Given the description of an element on the screen output the (x, y) to click on. 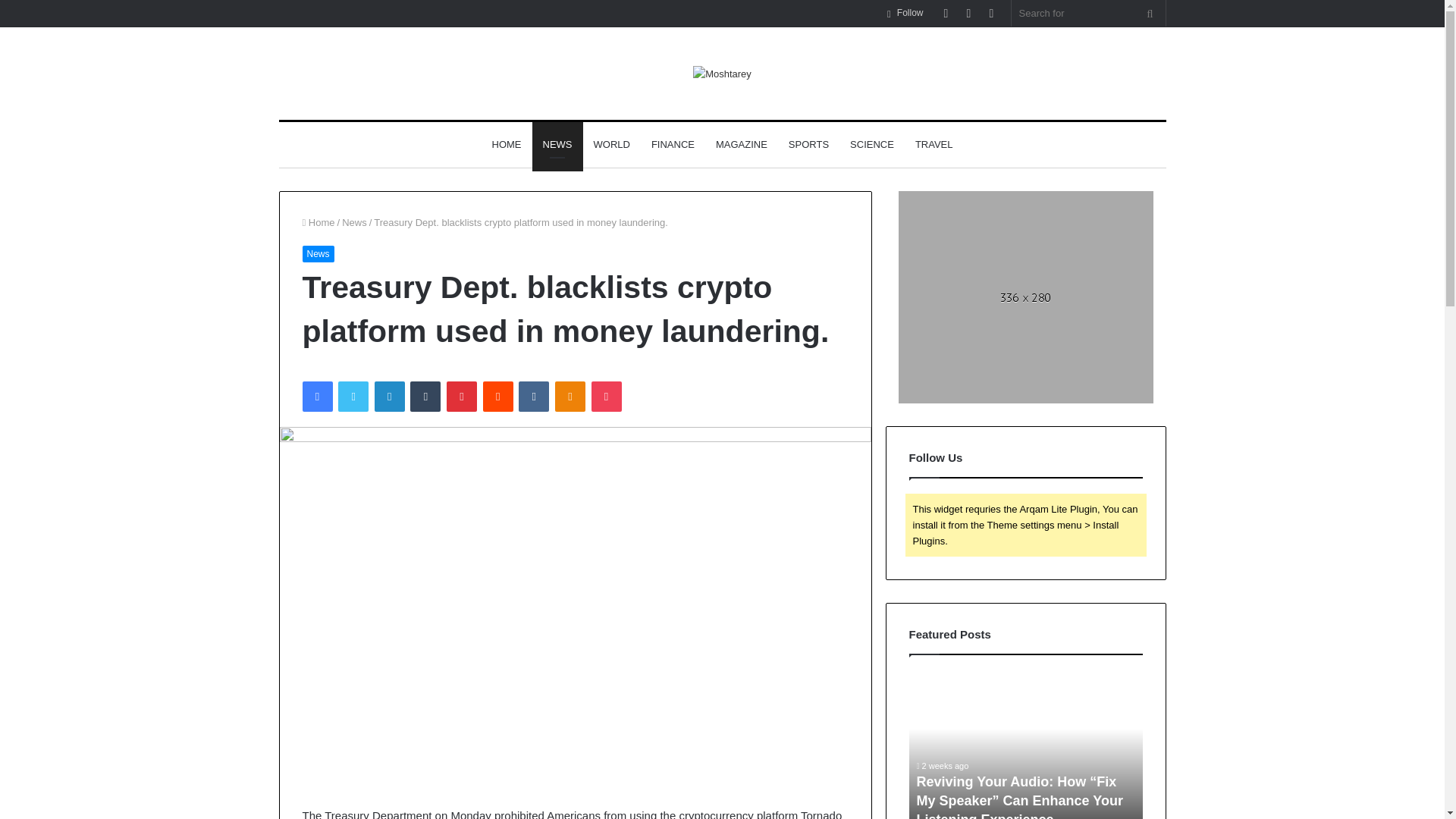
LinkedIn (389, 396)
Follow (905, 13)
Pinterest (461, 396)
Pinterest (461, 396)
Tumblr (425, 396)
Pocket (606, 396)
SCIENCE (872, 144)
News (354, 222)
Odnoklassniki (569, 396)
Tumblr (425, 396)
FINANCE (672, 144)
WORLD (611, 144)
SPORTS (808, 144)
Home (317, 222)
LinkedIn (389, 396)
